Given the description of an element on the screen output the (x, y) to click on. 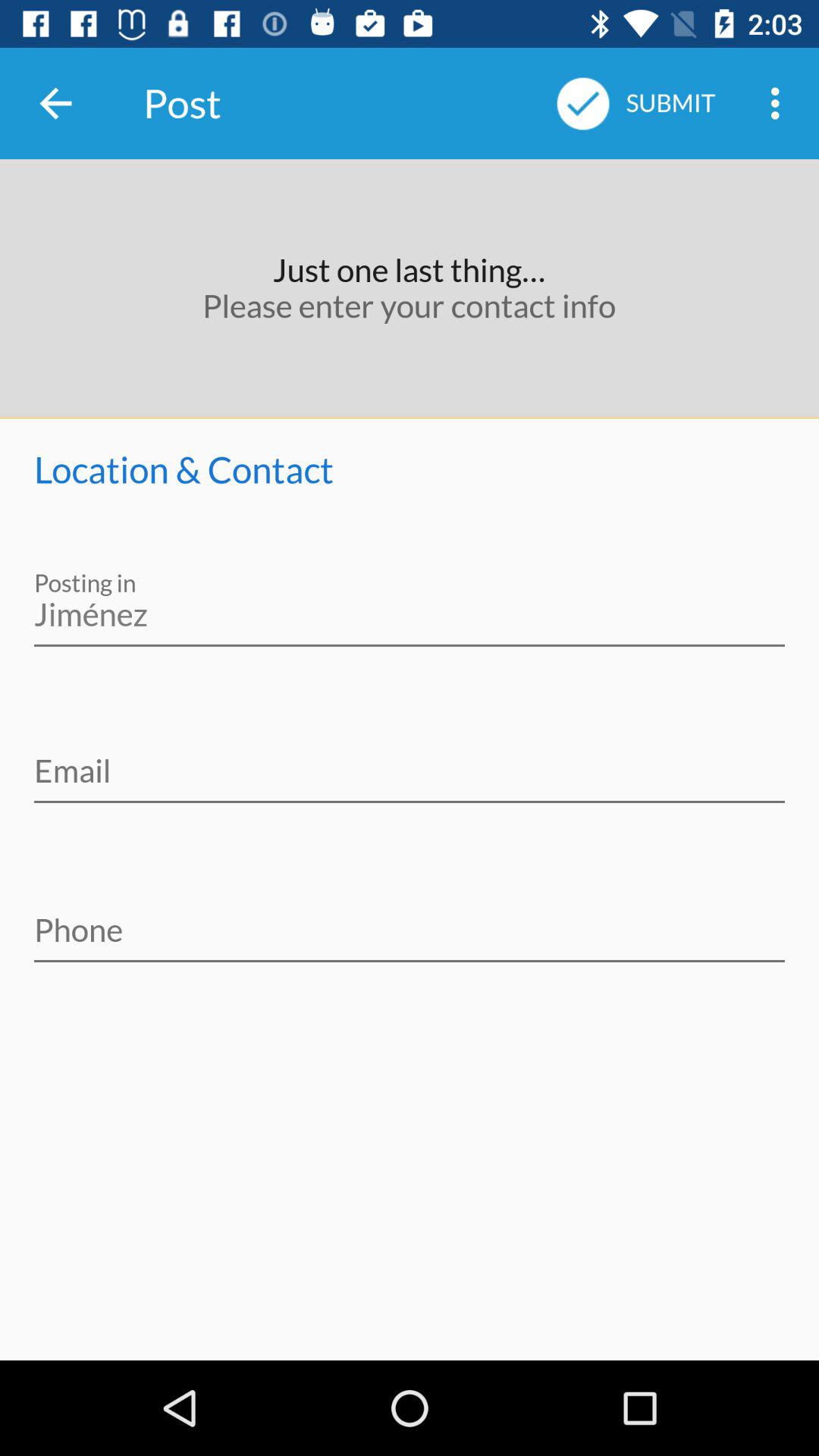
enter phone number field (409, 919)
